Given the description of an element on the screen output the (x, y) to click on. 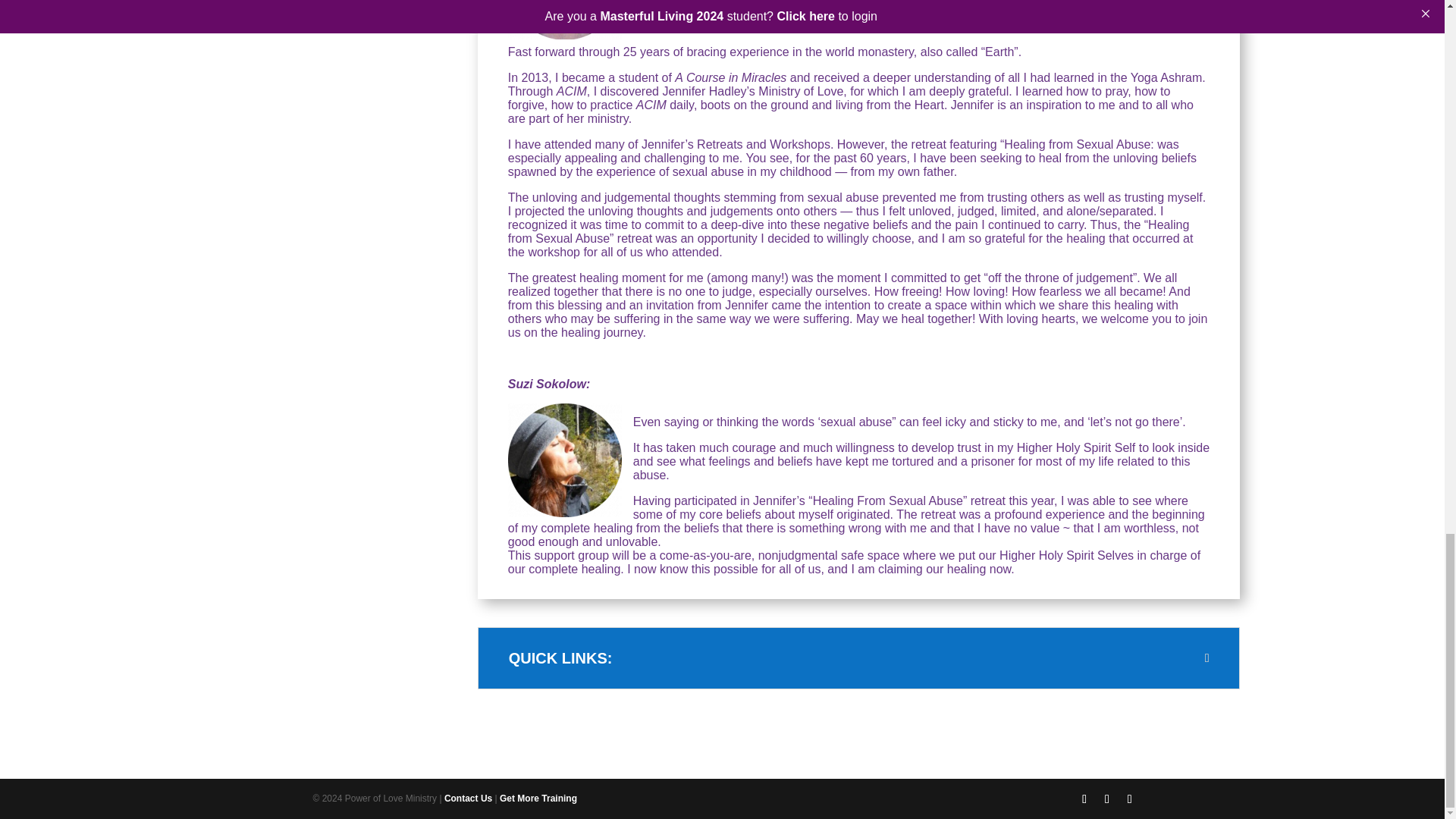
Get More Training (537, 798)
Contact Us (468, 798)
